Given the description of an element on the screen output the (x, y) to click on. 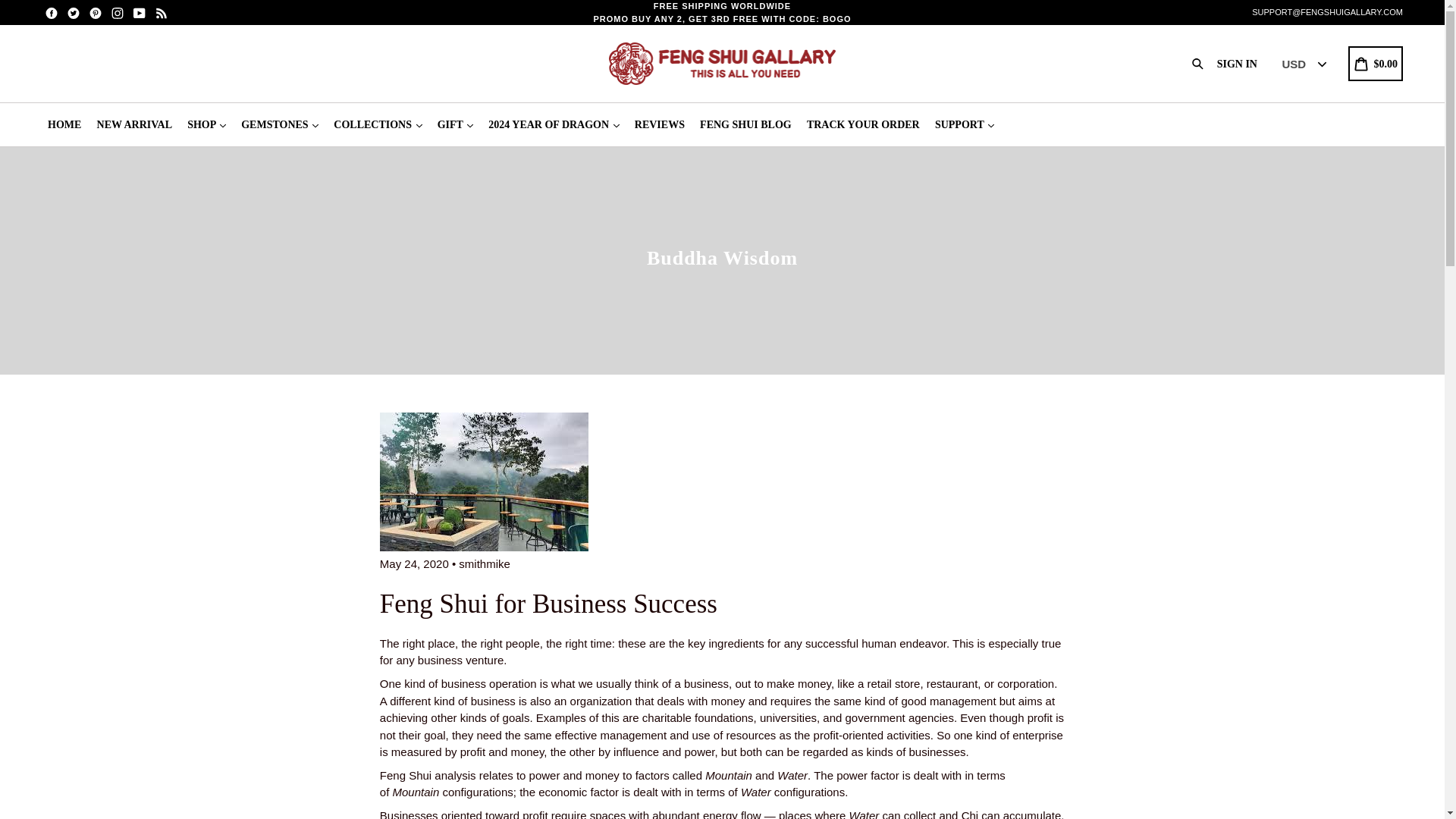
FengshuiGallary on YouTube (139, 12)
FengshuiGallary on Twitter (73, 12)
FengshuiGallary on Facebook (51, 12)
FengshuiGallary on Instagram (117, 12)
FengshuiGallary on Pinterest (94, 12)
